Given the description of an element on the screen output the (x, y) to click on. 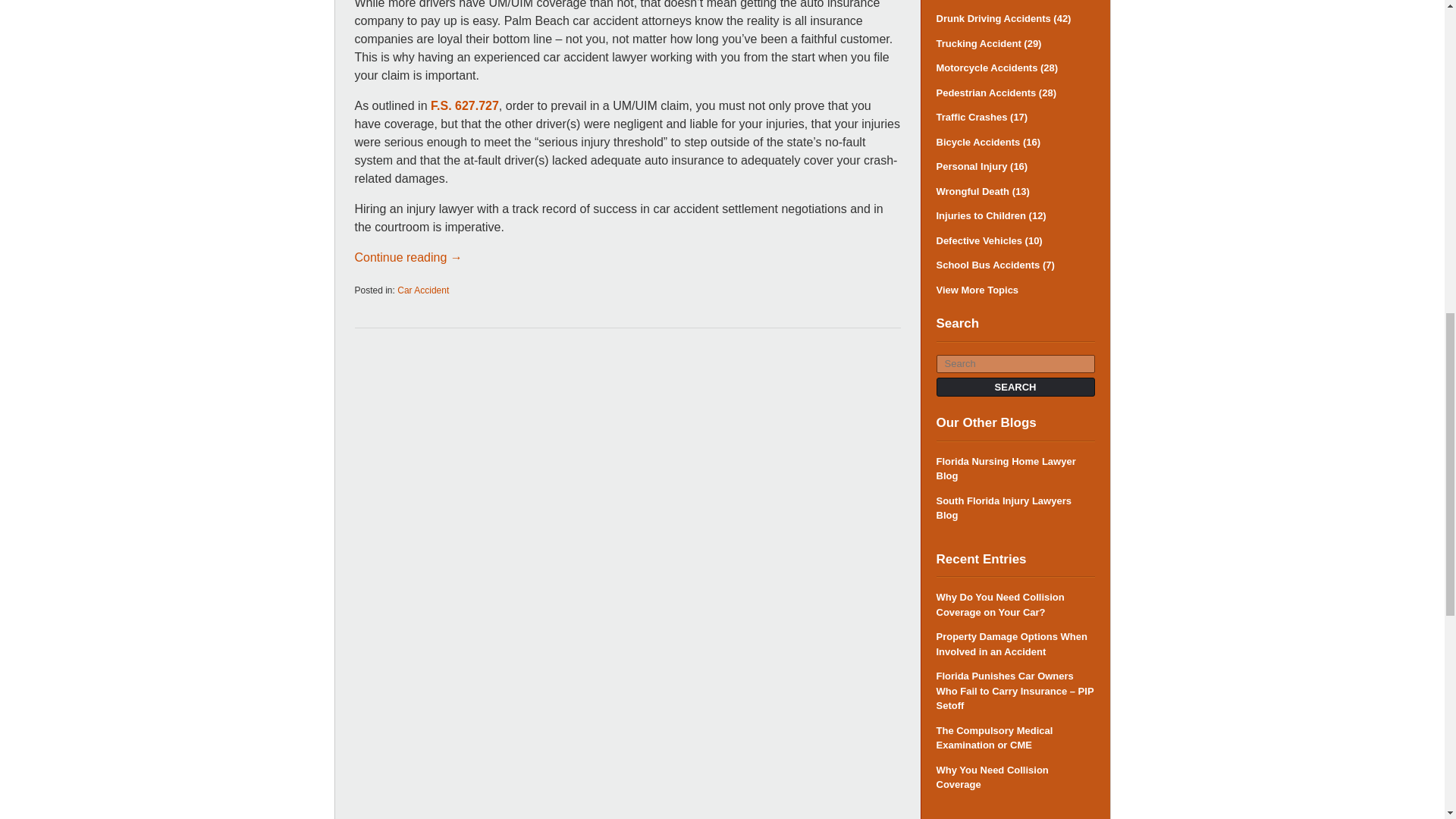
F.S. 627.727 (464, 105)
View all posts in Car Accident (422, 290)
Car Accident (422, 290)
